Given the description of an element on the screen output the (x, y) to click on. 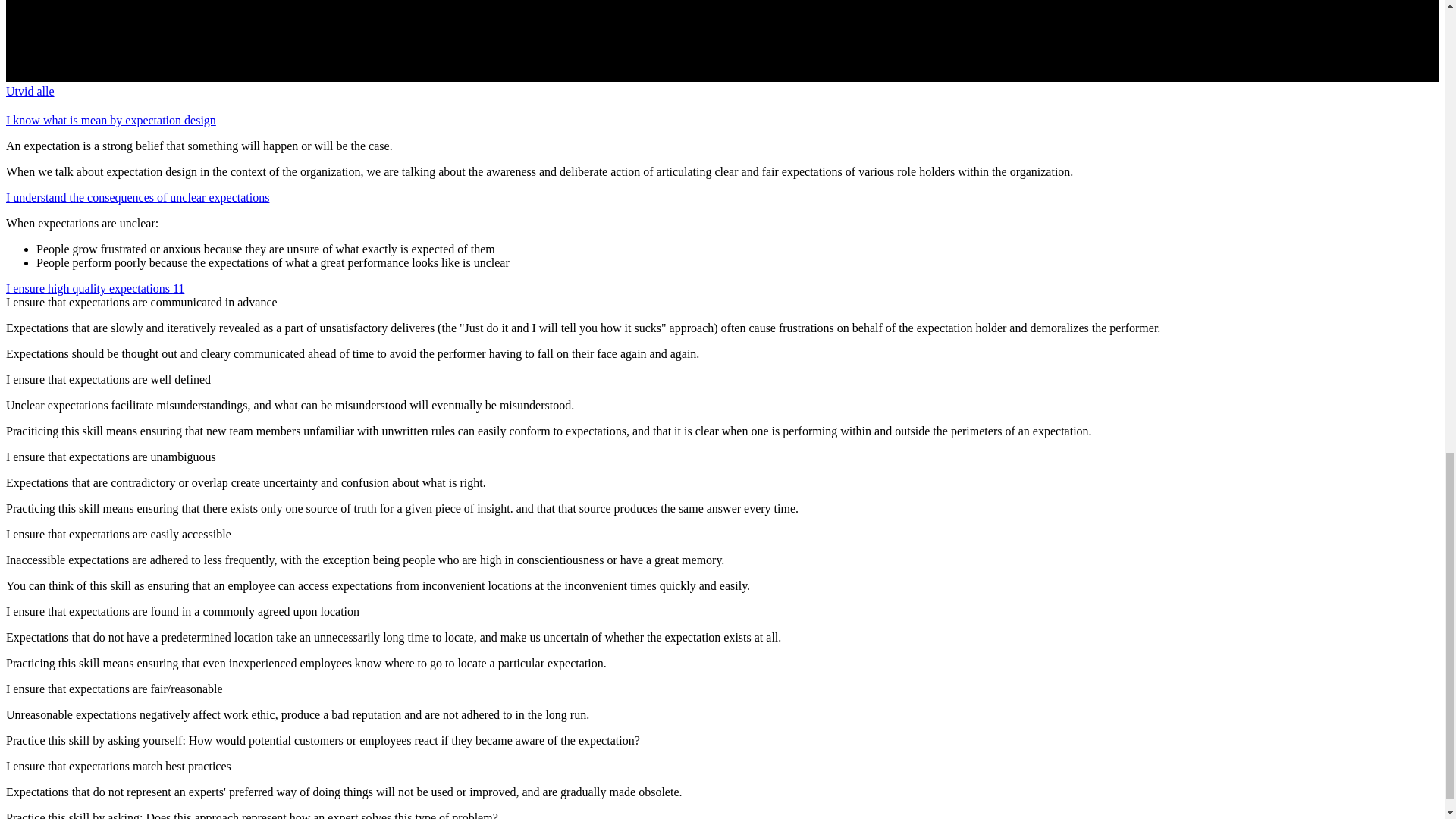
I ensure that expectations are easily accessible (118, 533)
Item ID: 3715 (94, 287)
I ensure that expectations are communicated in advance (141, 301)
Utvid alle (30, 91)
Item ID: 3727 (110, 119)
I ensure that expectations match best practices (118, 766)
I understand the consequences of unclear expectations (137, 196)
I ensure that expectations are well defined (108, 379)
I know what is mean by expectation design (110, 119)
